Given the description of an element on the screen output the (x, y) to click on. 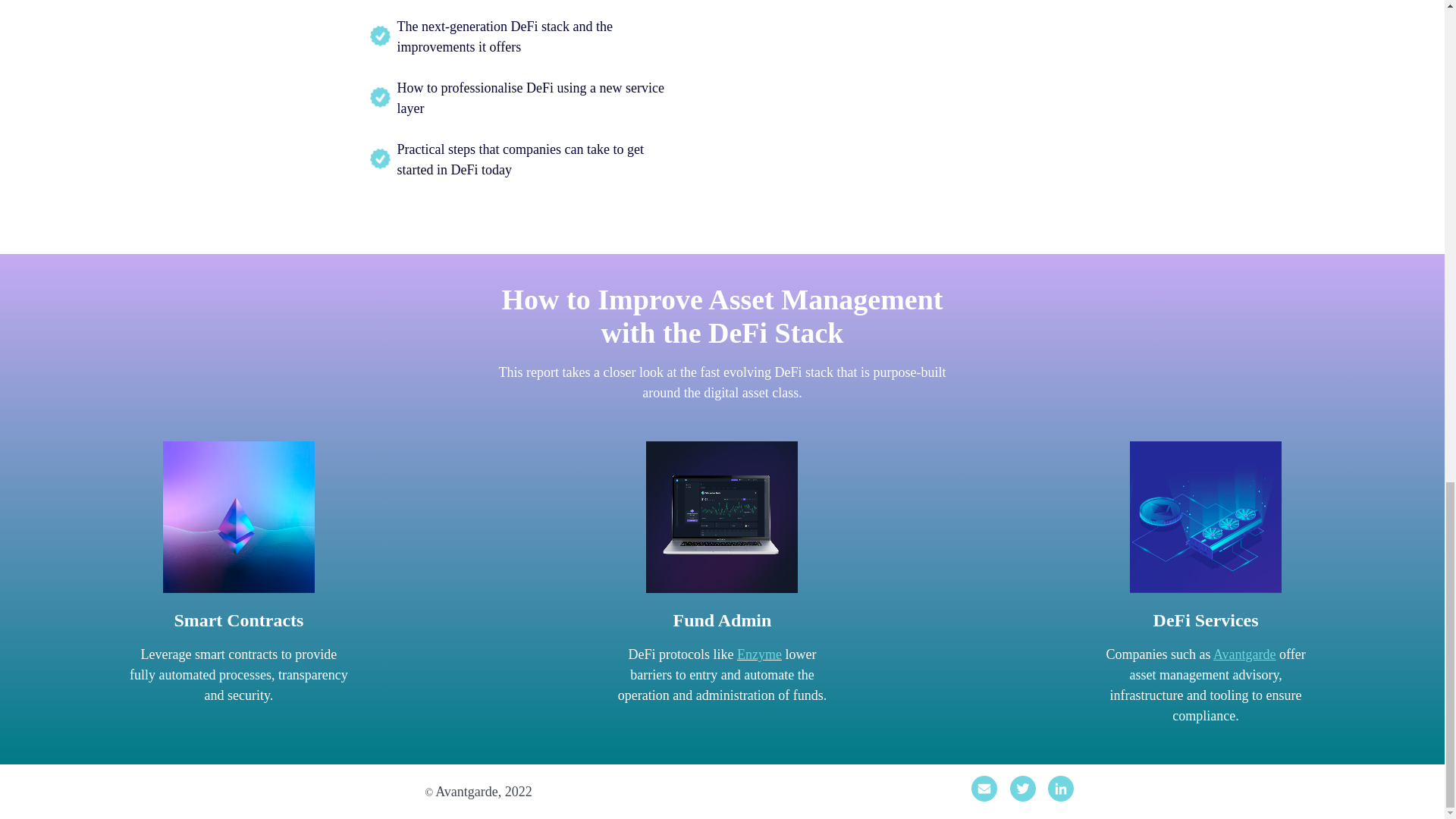
Enzyme (758, 654)
DeFi Service Layer (1205, 516)
Temp-200x200 (238, 516)
Avantgarde (1244, 654)
